Given the description of an element on the screen output the (x, y) to click on. 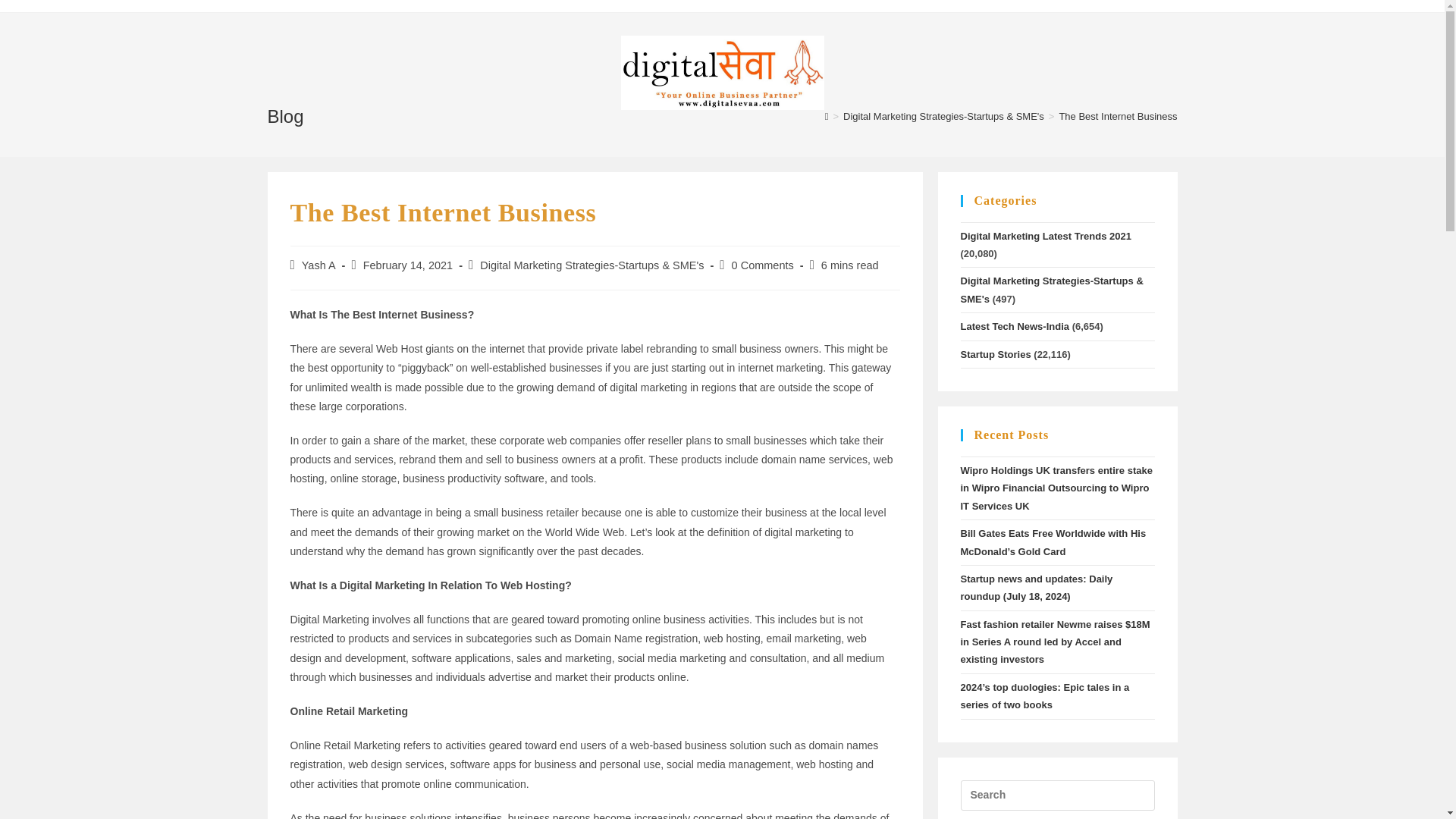
Yash A (318, 265)
Digital Marketing Latest Trends 2021 (1045, 235)
Latest Tech News-India (1013, 326)
The Best Internet Business (1117, 116)
Startup Stories (994, 354)
0 Comments (762, 265)
Posts by Yash A (318, 265)
